Given the description of an element on the screen output the (x, y) to click on. 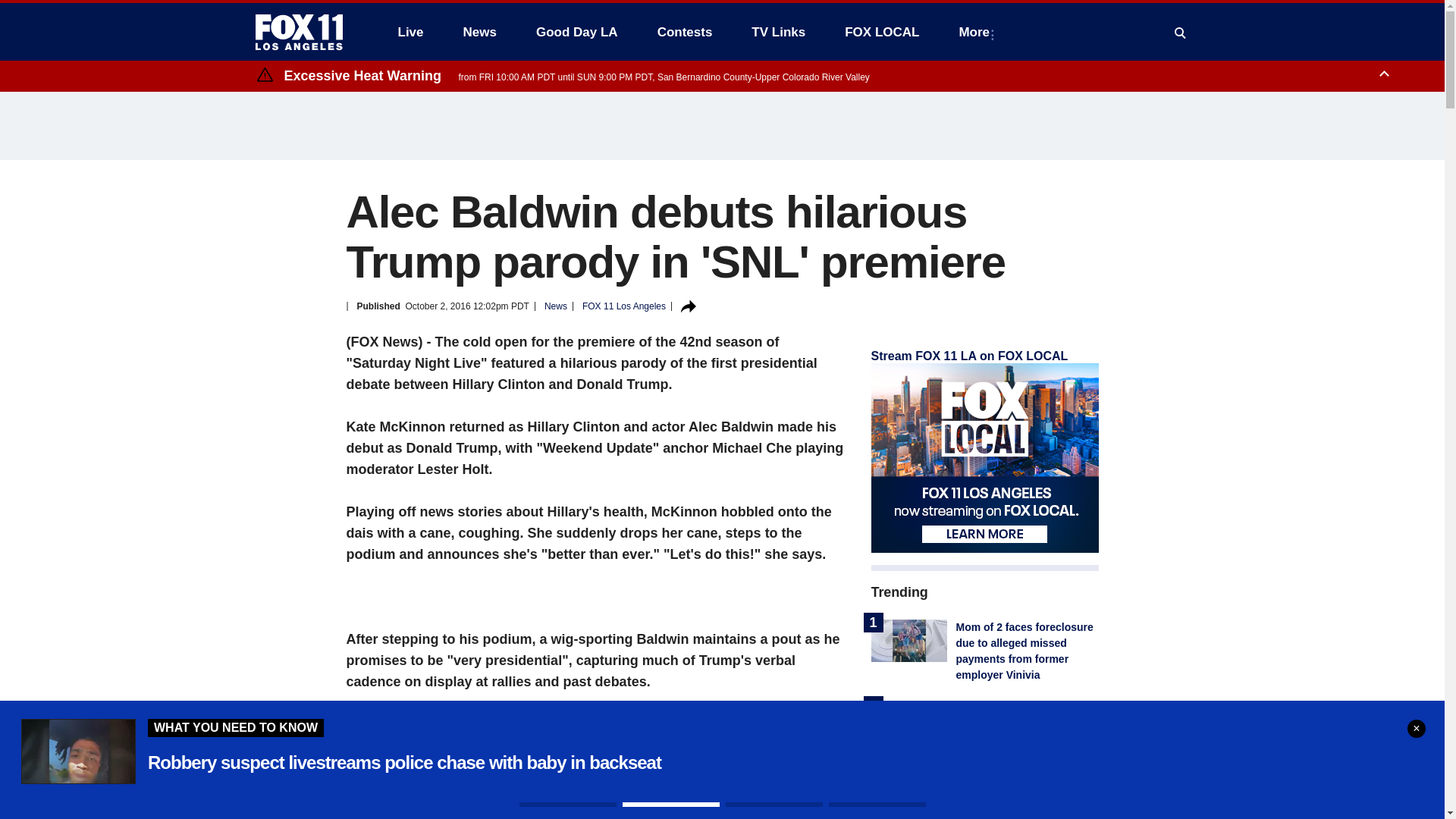
FOX LOCAL (881, 32)
Good Day LA (577, 32)
TV Links (777, 32)
News (479, 32)
Live (410, 32)
More (976, 32)
Contests (685, 32)
